Given the description of an element on the screen output the (x, y) to click on. 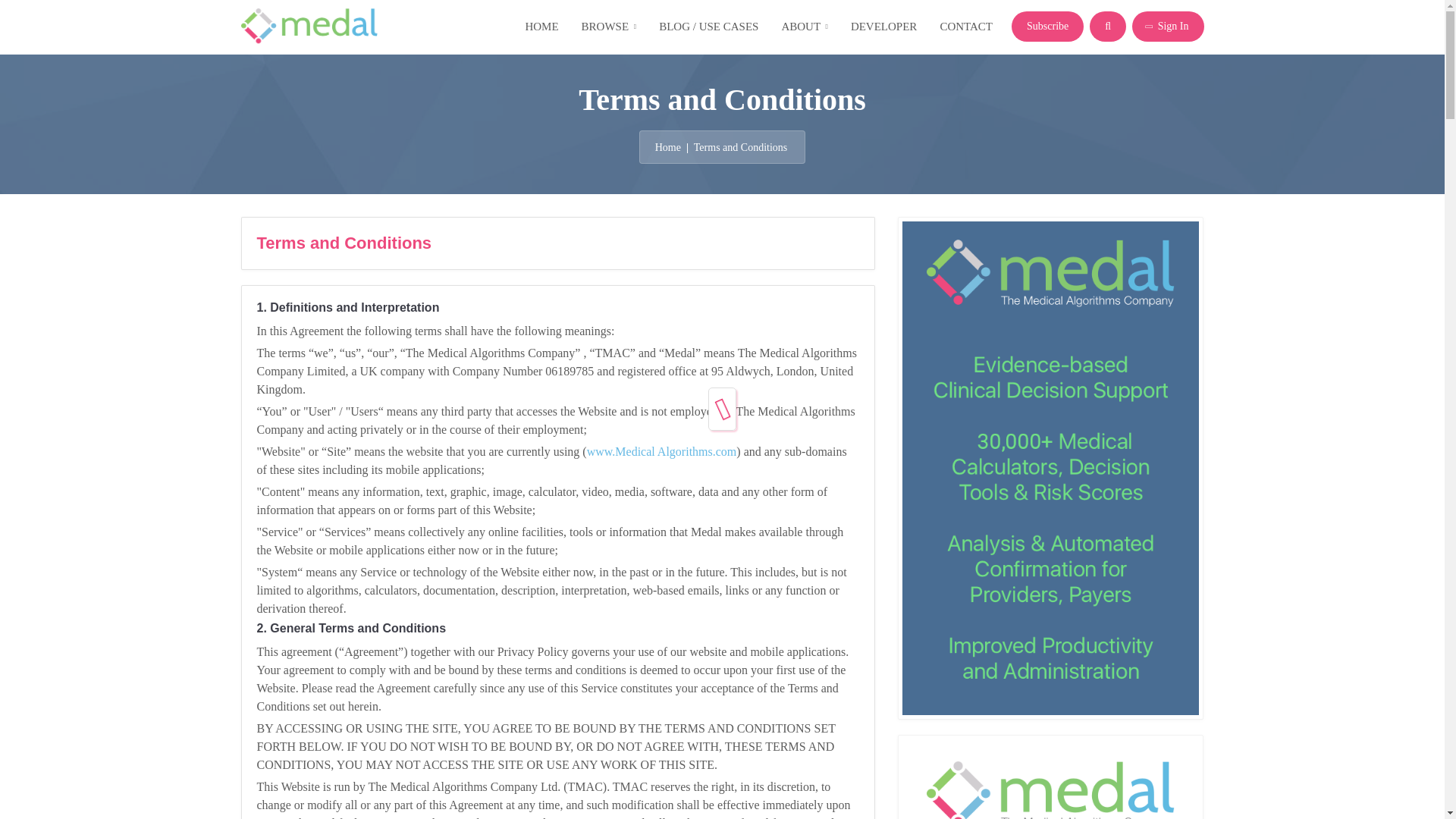
Sign In (1168, 26)
DEVELOPER (884, 26)
HOME (541, 26)
CONTACT (966, 26)
Subscribe (1047, 26)
Home (668, 146)
www.Medical Algorithms.com (661, 451)
BROWSE (608, 26)
ABOUT (804, 26)
